Given the description of an element on the screen output the (x, y) to click on. 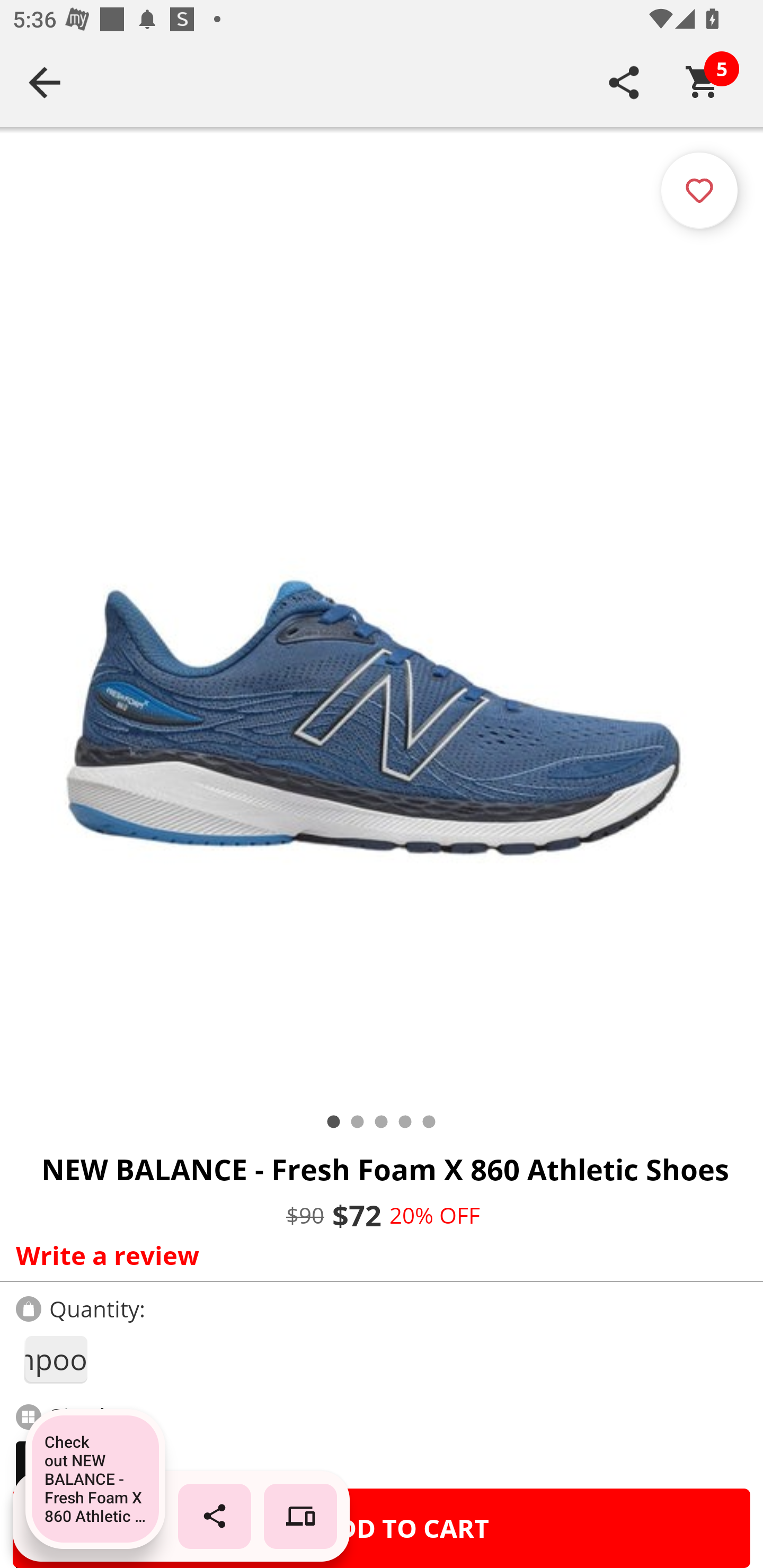
Navigate up (44, 82)
SHARE (623, 82)
Cart (703, 81)
Write a review (377, 1255)
1shampoo (55, 1358)
